Given the description of an element on the screen output the (x, y) to click on. 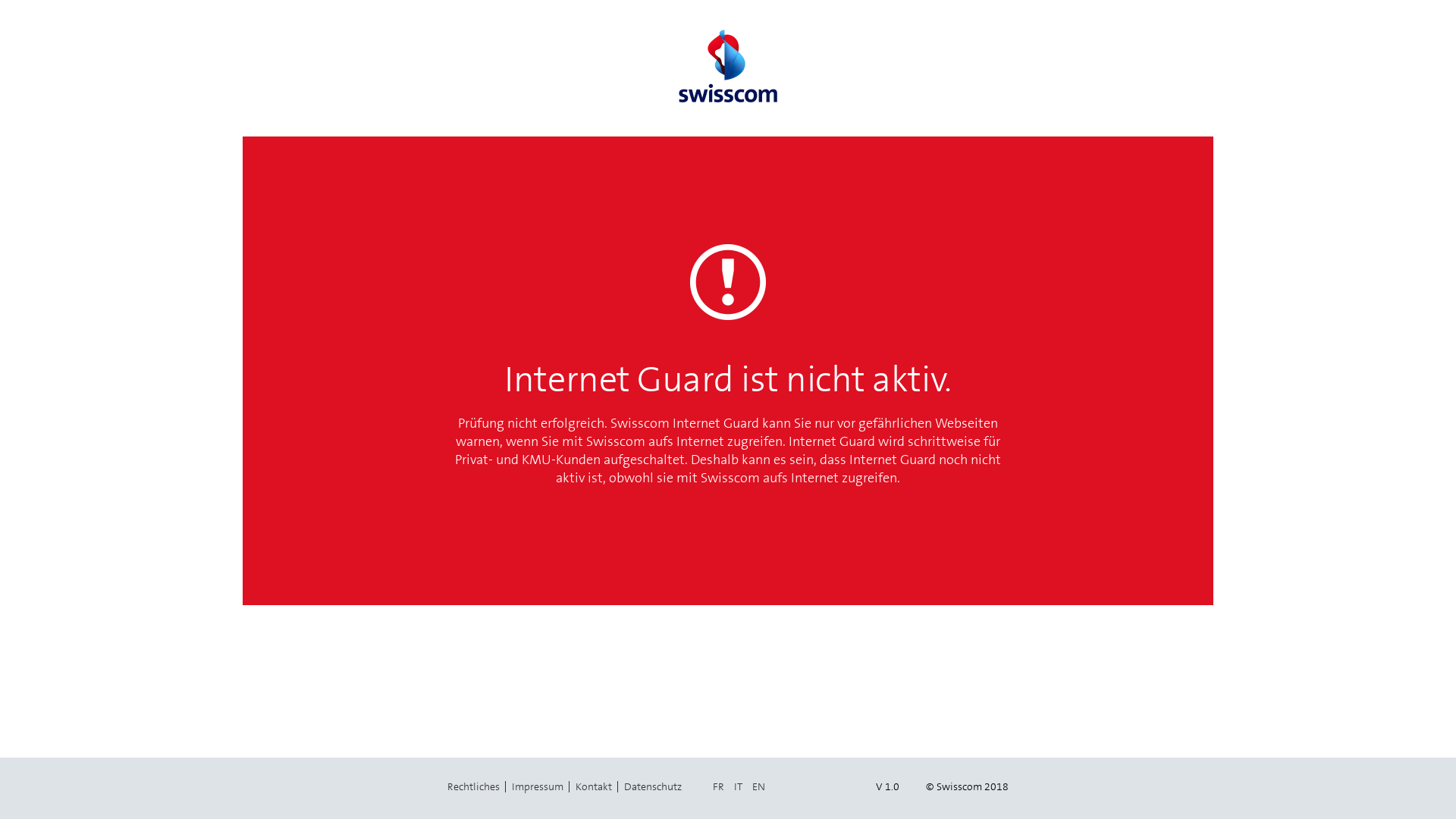
Rechtliches Element type: text (473, 786)
EN Element type: text (758, 786)
Datenschutz Element type: text (652, 786)
FR Element type: text (718, 786)
Impressum Element type: text (537, 786)
IT Element type: text (738, 786)
Kontakt Element type: text (593, 786)
